Given the description of an element on the screen output the (x, y) to click on. 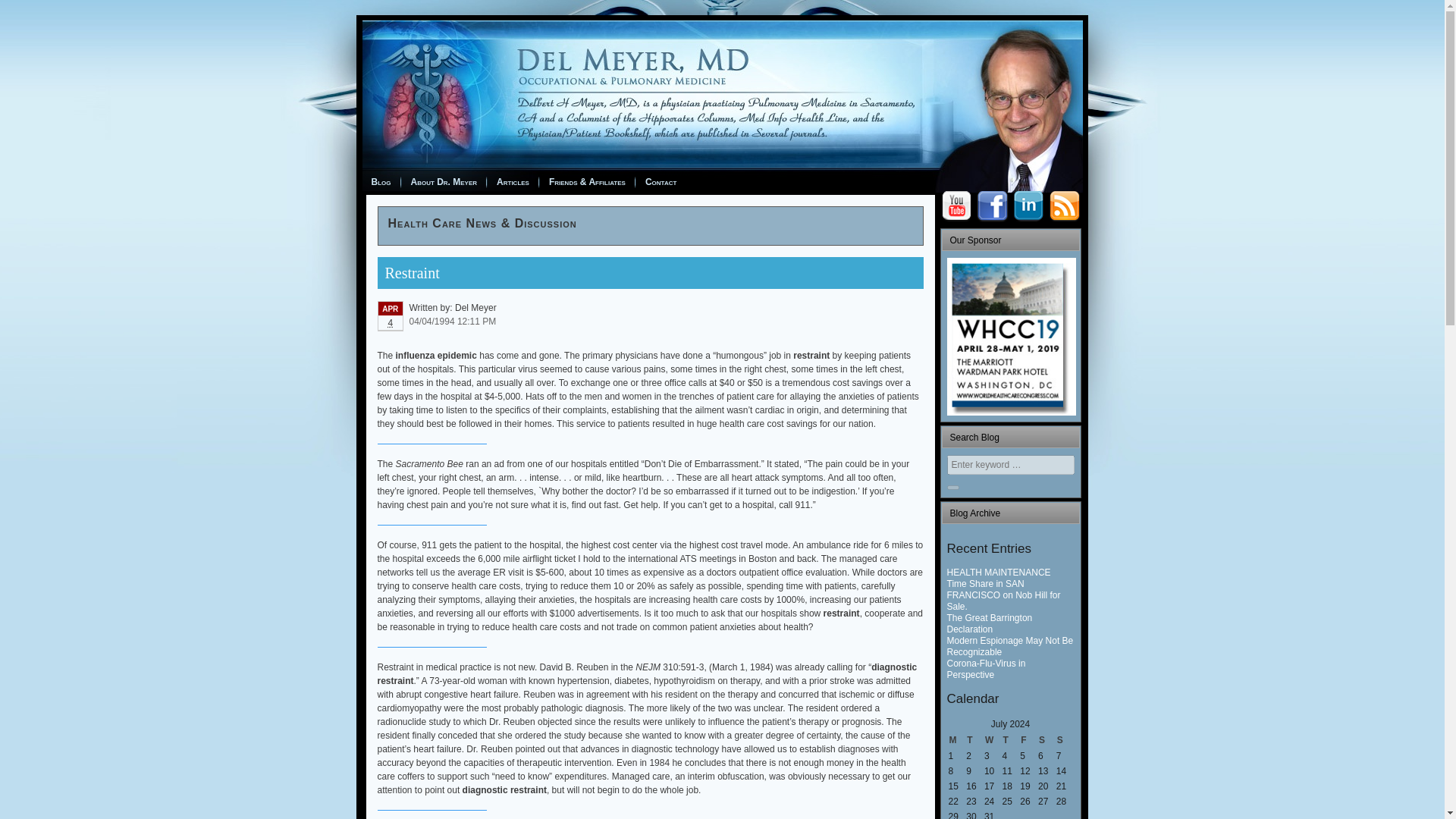
About Dr. Meyer (443, 181)
Tuesday (974, 739)
Articles (512, 181)
Thursday (1011, 739)
Contact (660, 181)
Saturday (1046, 739)
Wednesday (992, 739)
Friday (1028, 739)
Sunday (1065, 739)
Blog (381, 181)
Monday (955, 739)
